Given the description of an element on the screen output the (x, y) to click on. 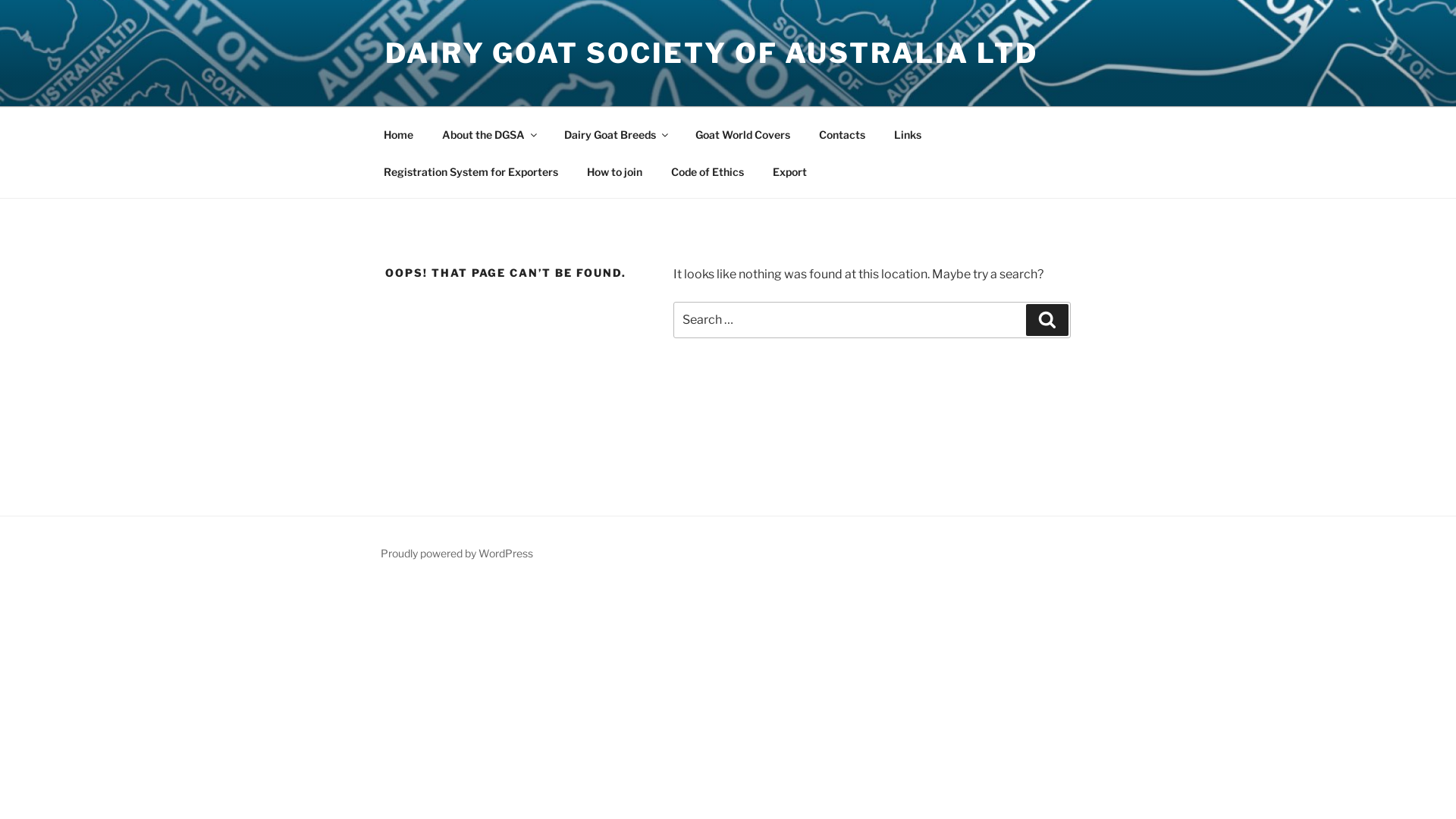
Export Element type: text (789, 171)
Links Element type: text (907, 133)
Registration System for Exporters Element type: text (470, 171)
DAIRY GOAT SOCIETY OF AUSTRALIA LTD Element type: text (711, 52)
Code of Ethics Element type: text (706, 171)
Dairy Goat Breeds Element type: text (614, 133)
Search Element type: text (1047, 319)
Skip to content Element type: text (0, 0)
Contacts Element type: text (841, 133)
Goat World Covers Element type: text (742, 133)
Home Element type: text (398, 133)
How to join Element type: text (614, 171)
Proudly powered by WordPress Element type: text (456, 552)
About the DGSA Element type: text (488, 133)
